Given the description of an element on the screen output the (x, y) to click on. 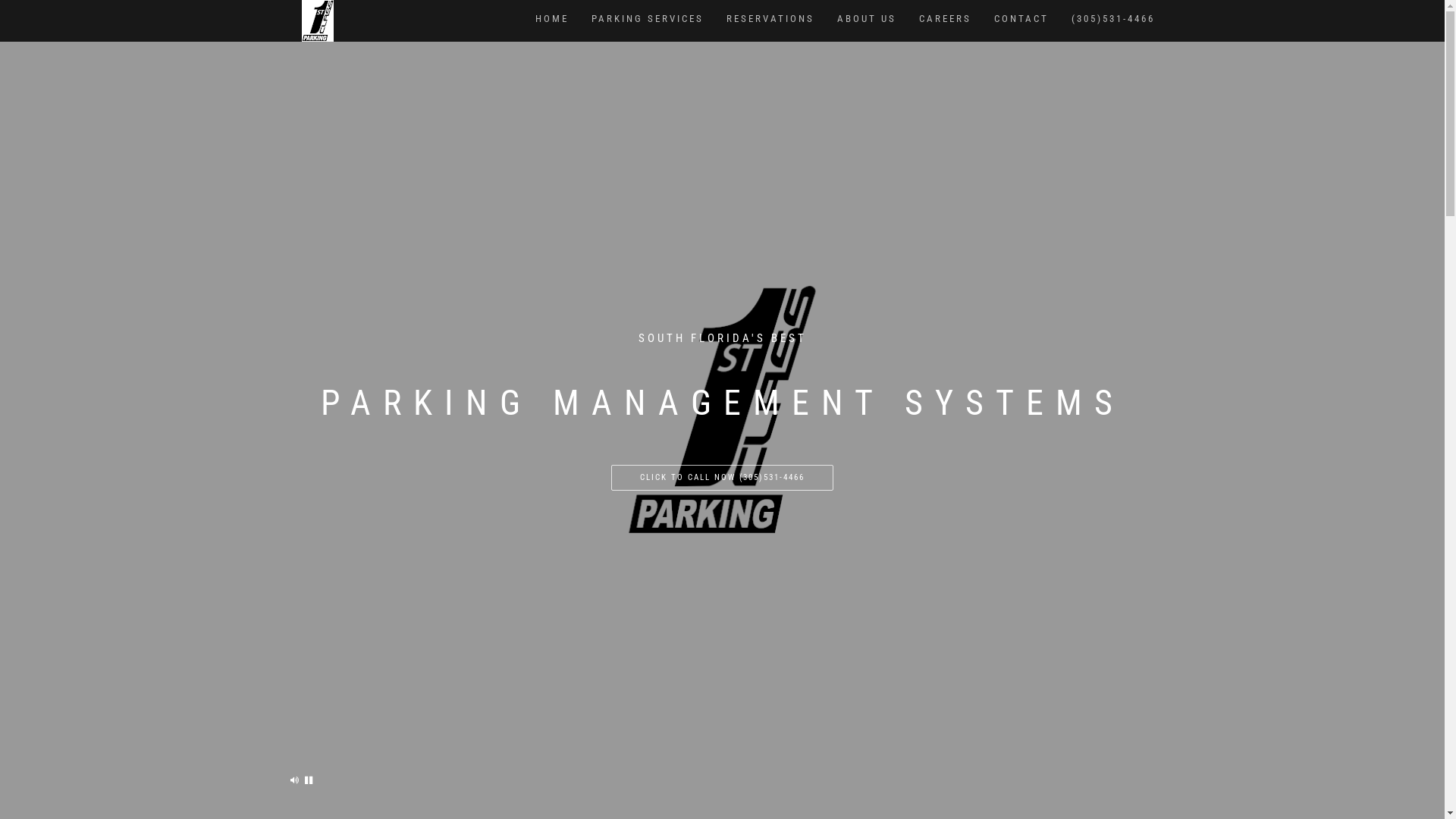
CONTACT Element type: text (1021, 18)
HOME Element type: text (551, 18)
PARKING SERVICES Element type: text (646, 18)
ABOUT US Element type: text (865, 18)
CAREERS Element type: text (944, 18)
  Element type: text (309, 779)
  Element type: text (294, 779)
CLICK TO CALL NOW (305)531-4466 Element type: text (722, 477)
(305)531-4466 Element type: text (1113, 18)
RESERVATIONS Element type: text (769, 18)
